Given the description of an element on the screen output the (x, y) to click on. 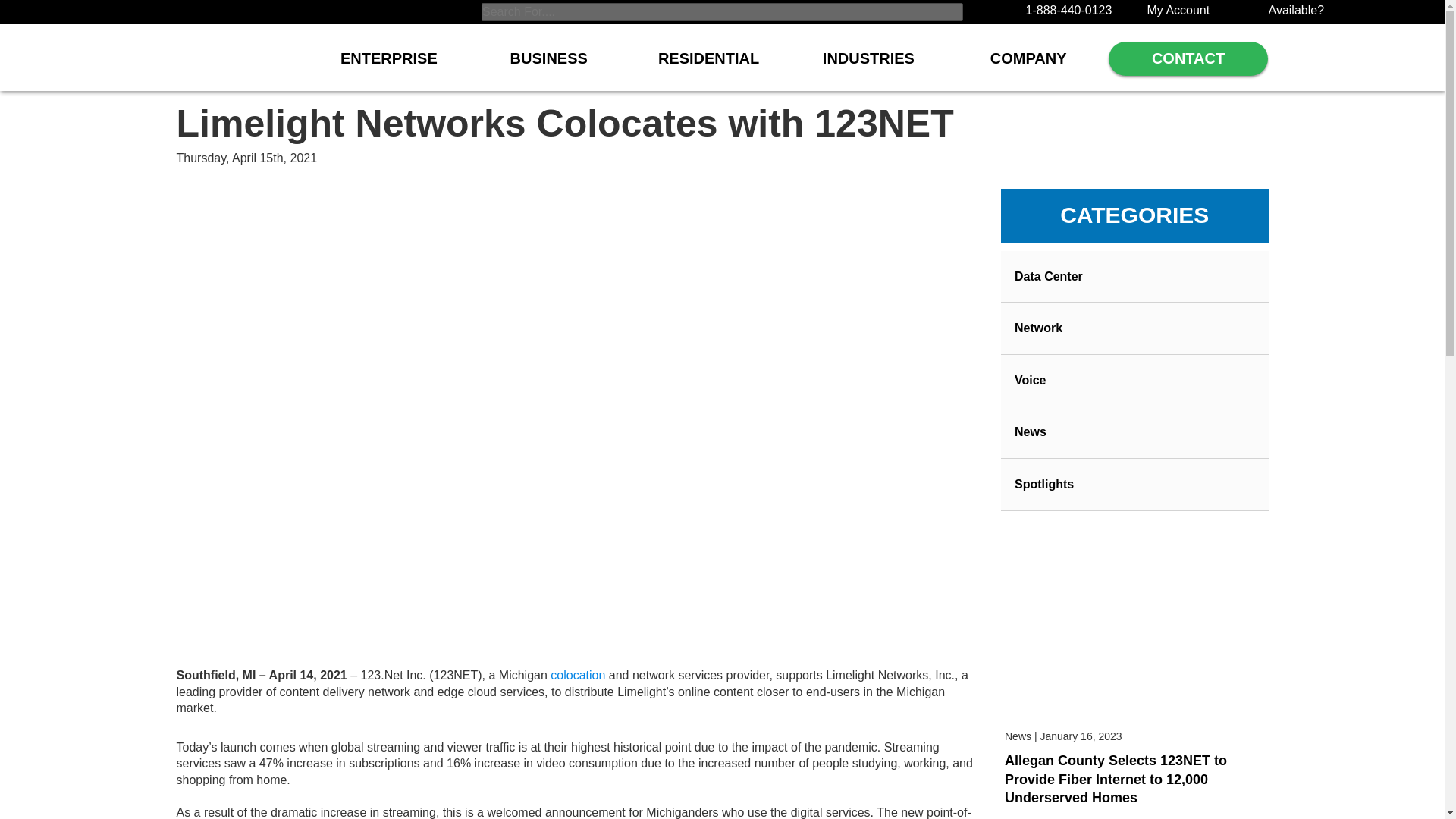
1-888-440-0123 (1068, 10)
INDUSTRIES (869, 65)
BUSINESS (548, 65)
Available? (1295, 10)
My Account (1178, 10)
ENTERPRISE (388, 65)
RESIDENTIAL (708, 65)
